Given the description of an element on the screen output the (x, y) to click on. 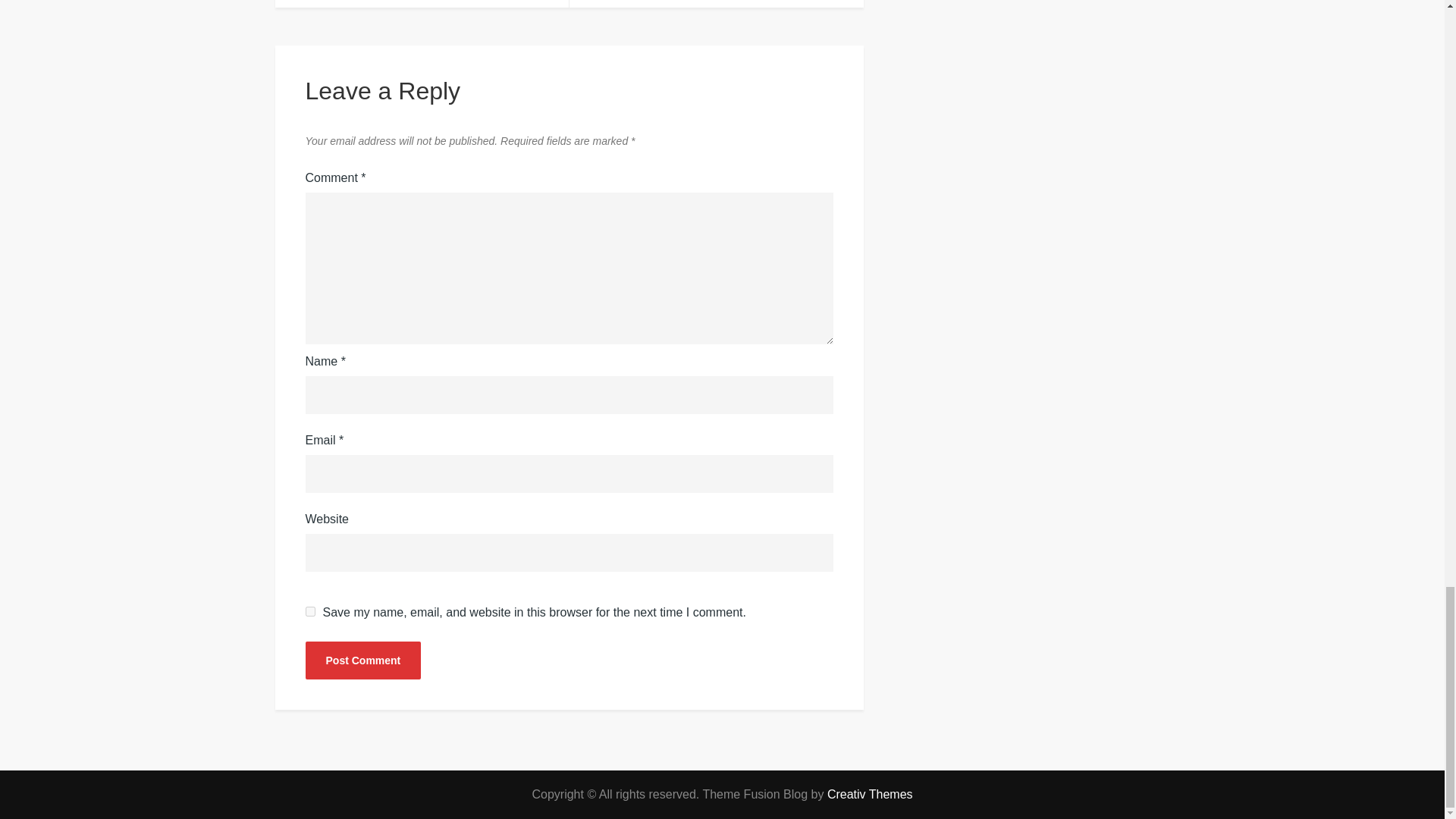
Tips For Effective Gas Leak Detection In Your Home (422, 3)
Post Comment (362, 660)
Creativ Themes (869, 793)
yes (309, 611)
Post Comment (362, 660)
Ultimate Guide To Online Gaming: Tips And Tricks For Success (716, 3)
